Given the description of an element on the screen output the (x, y) to click on. 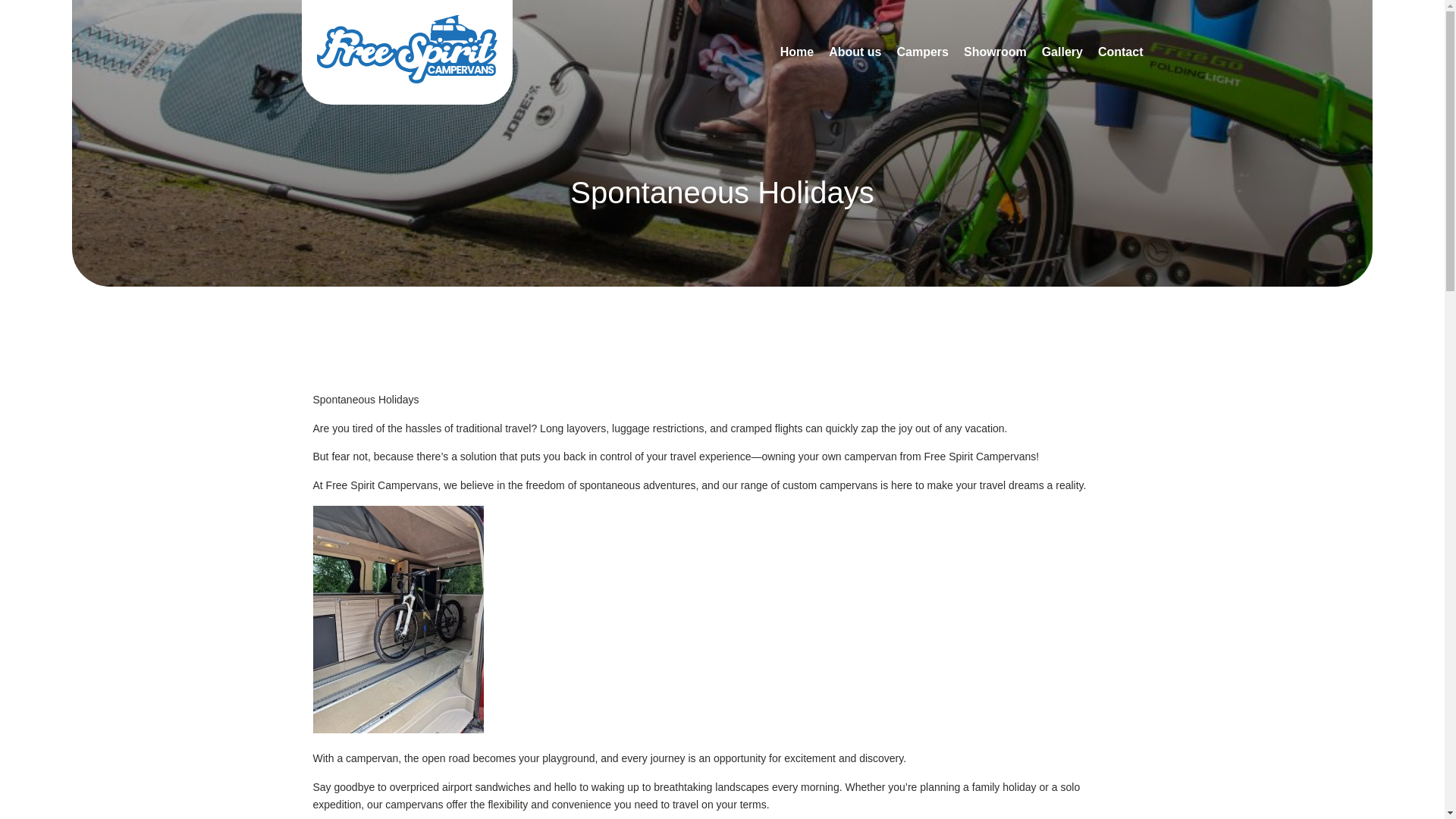
Home (796, 52)
Showroom (994, 52)
Gallery (1062, 52)
Contact (1119, 52)
About us (854, 52)
Campers (922, 52)
